Given the description of an element on the screen output the (x, y) to click on. 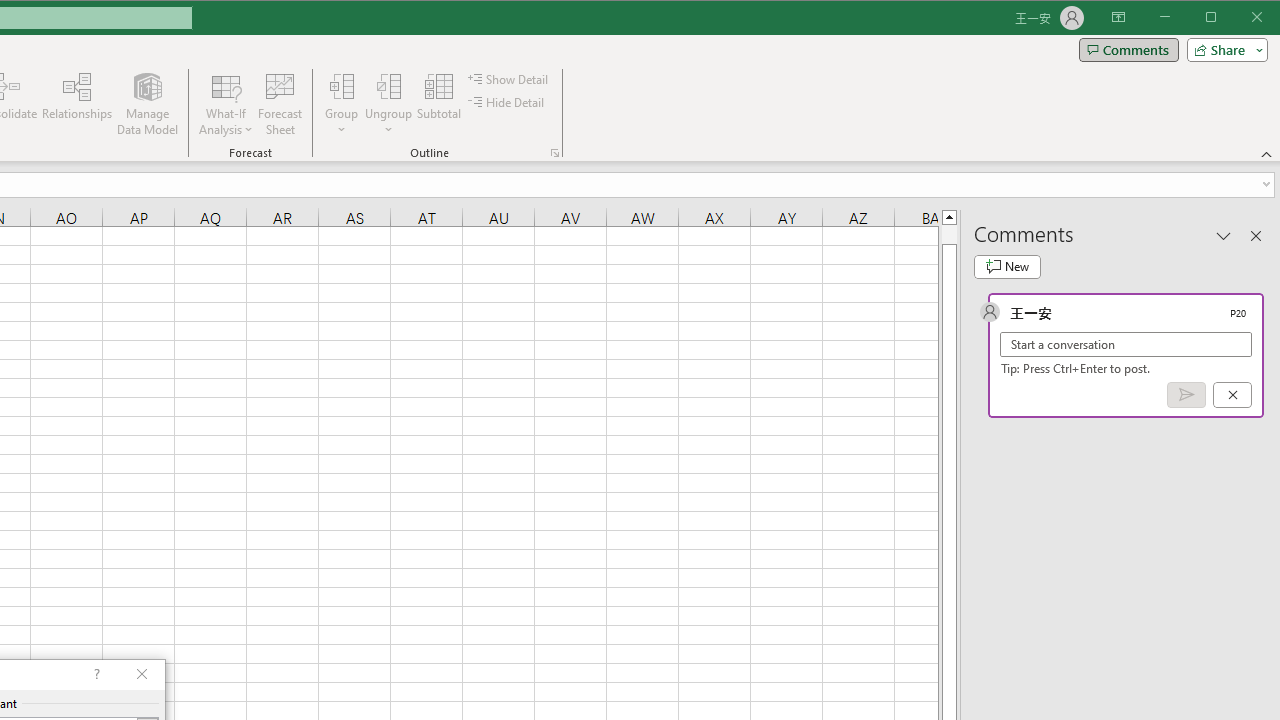
Cancel (1232, 395)
Maximize (1239, 18)
New comment (1007, 266)
Start a conversation (1126, 344)
